Given the description of an element on the screen output the (x, y) to click on. 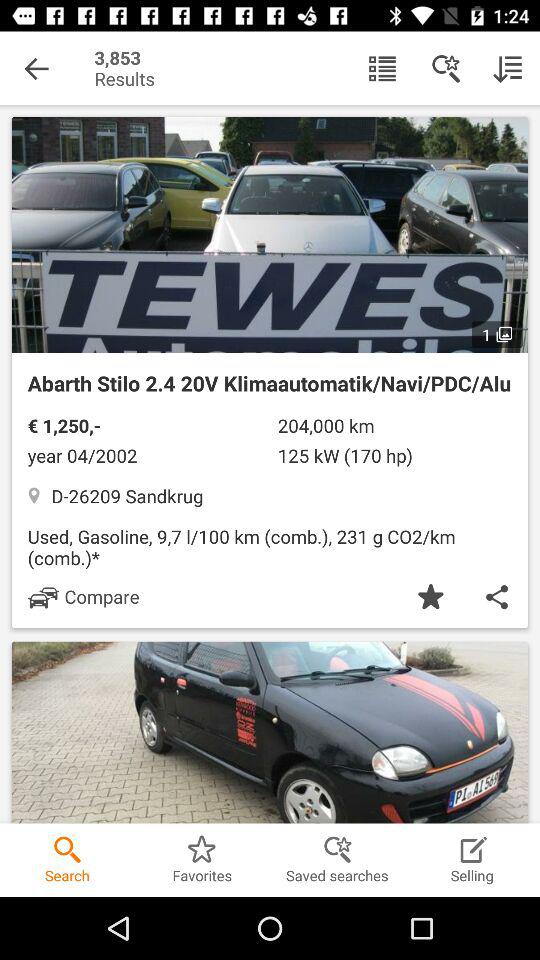
click on option which is right of saved searches (472, 849)
